Given the description of an element on the screen output the (x, y) to click on. 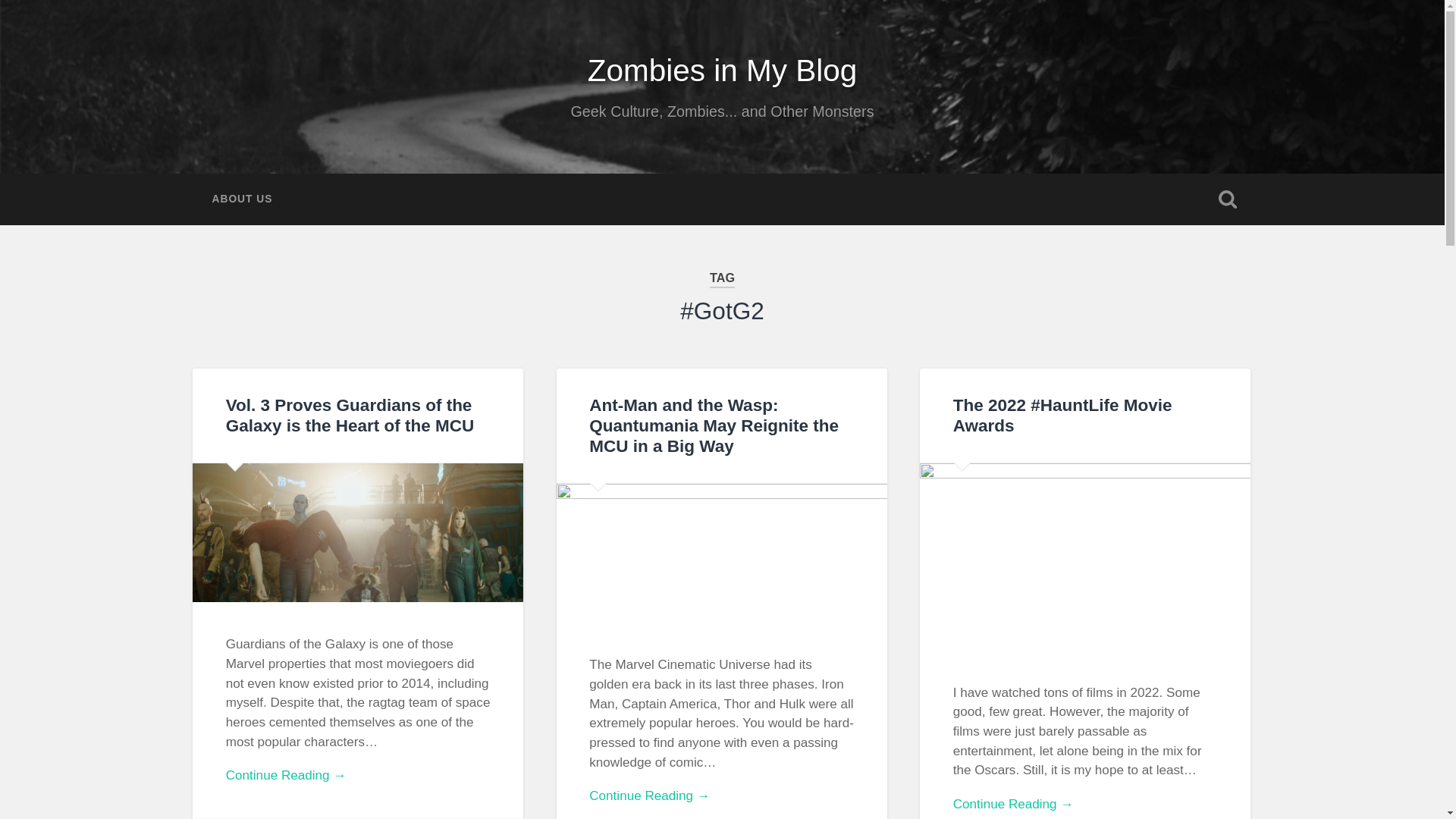
Zombies in My Blog (722, 70)
ABOUT US (241, 199)
